Given the description of an element on the screen output the (x, y) to click on. 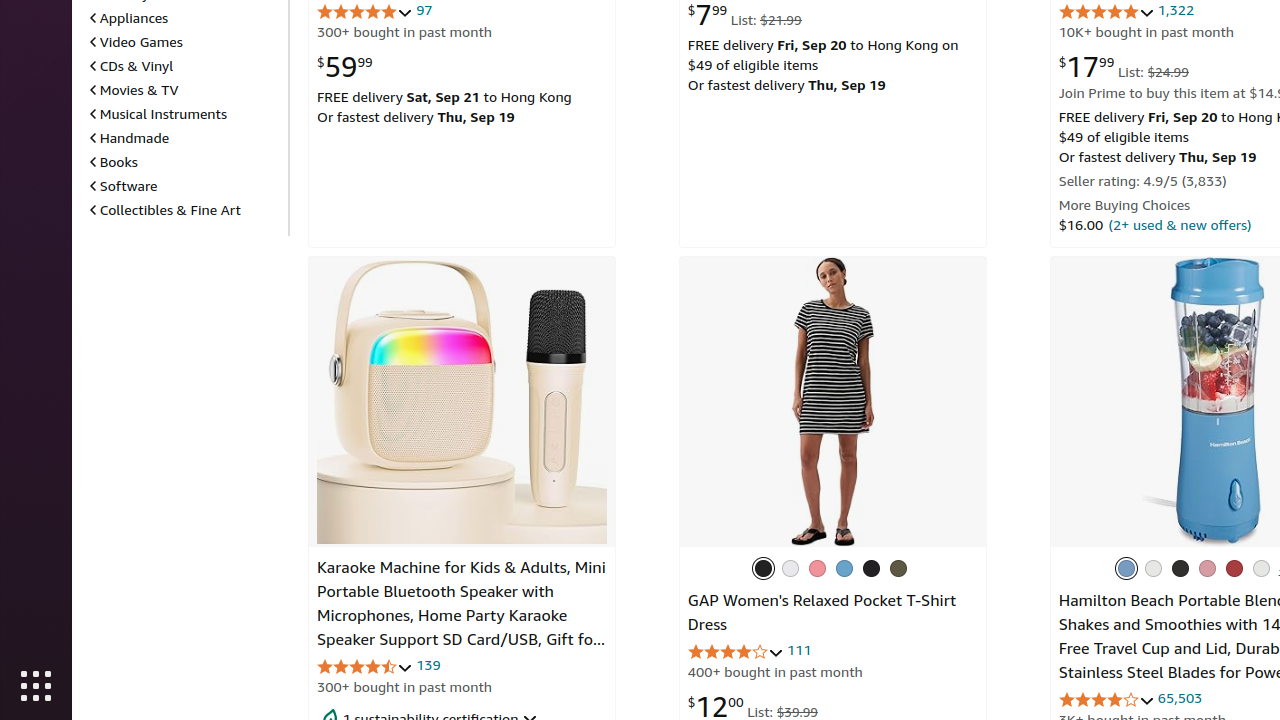
$59.99 Element type: link (345, 65)
